Given the description of an element on the screen output the (x, y) to click on. 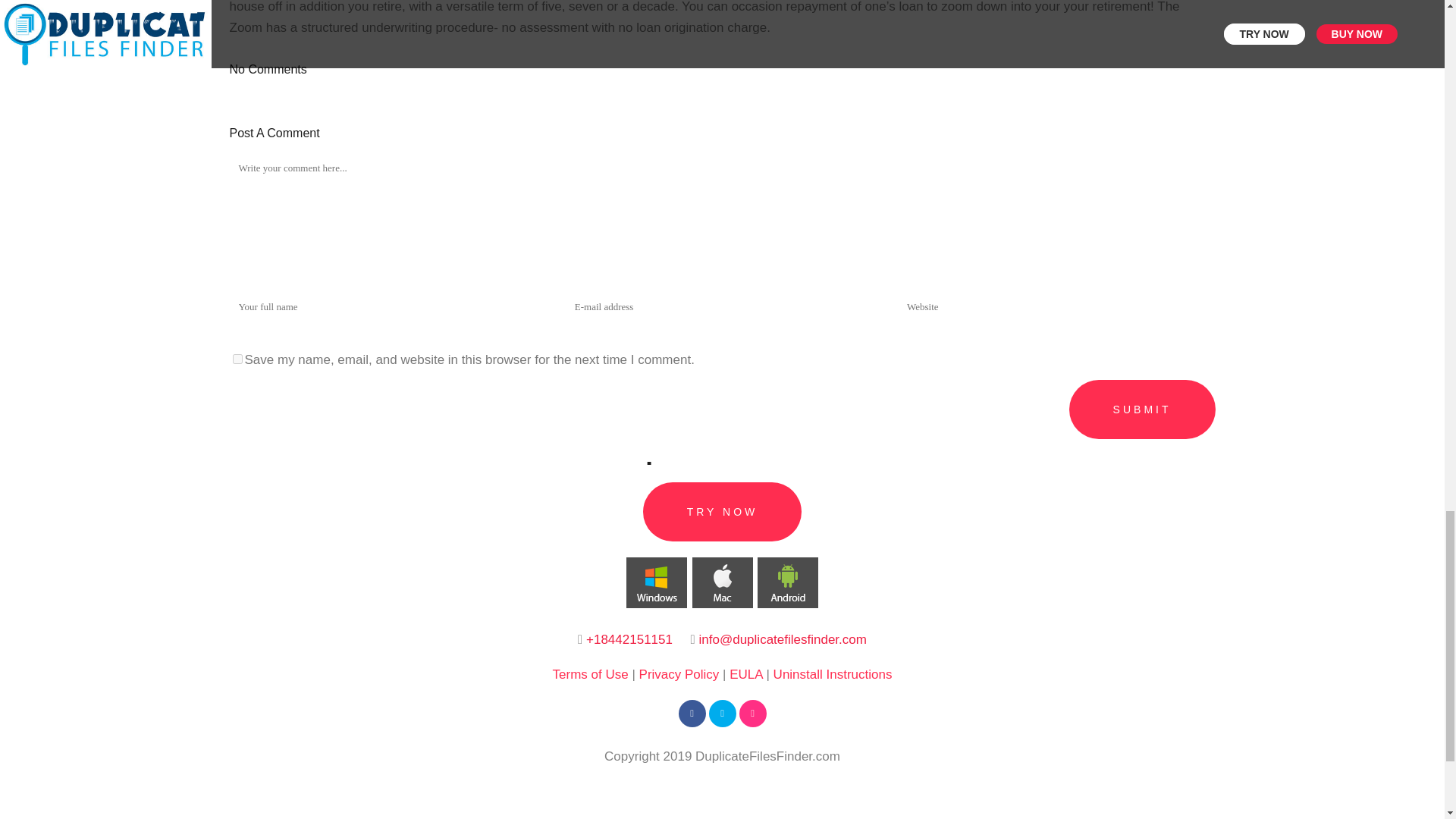
yes (236, 358)
Submit (1141, 409)
Submit (1141, 409)
